Given the description of an element on the screen output the (x, y) to click on. 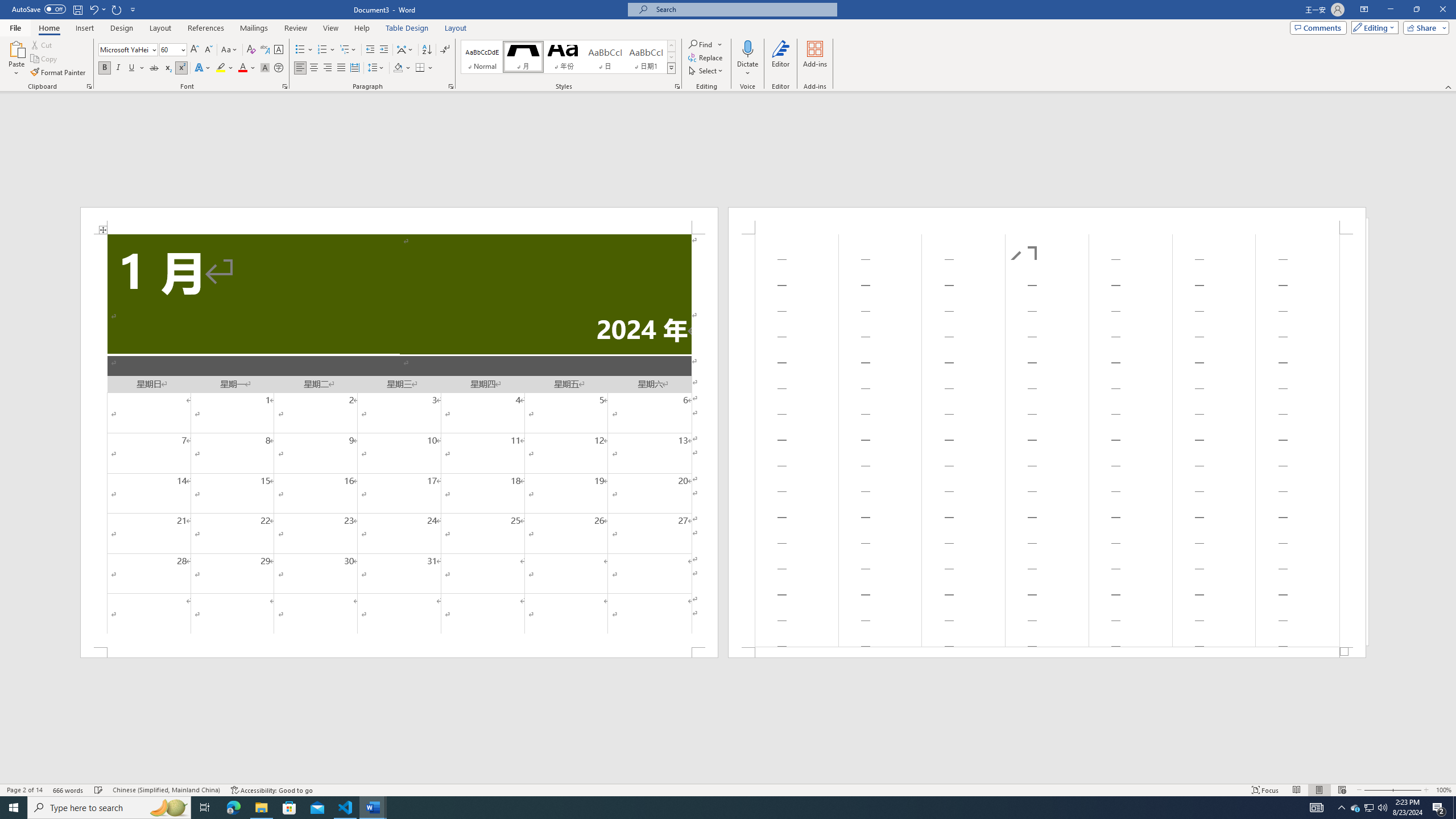
Bullets (304, 49)
Shading (402, 67)
Enclose Characters... (278, 67)
Center (313, 67)
Show/Hide Editing Marks (444, 49)
Italic (118, 67)
